Given the description of an element on the screen output the (x, y) to click on. 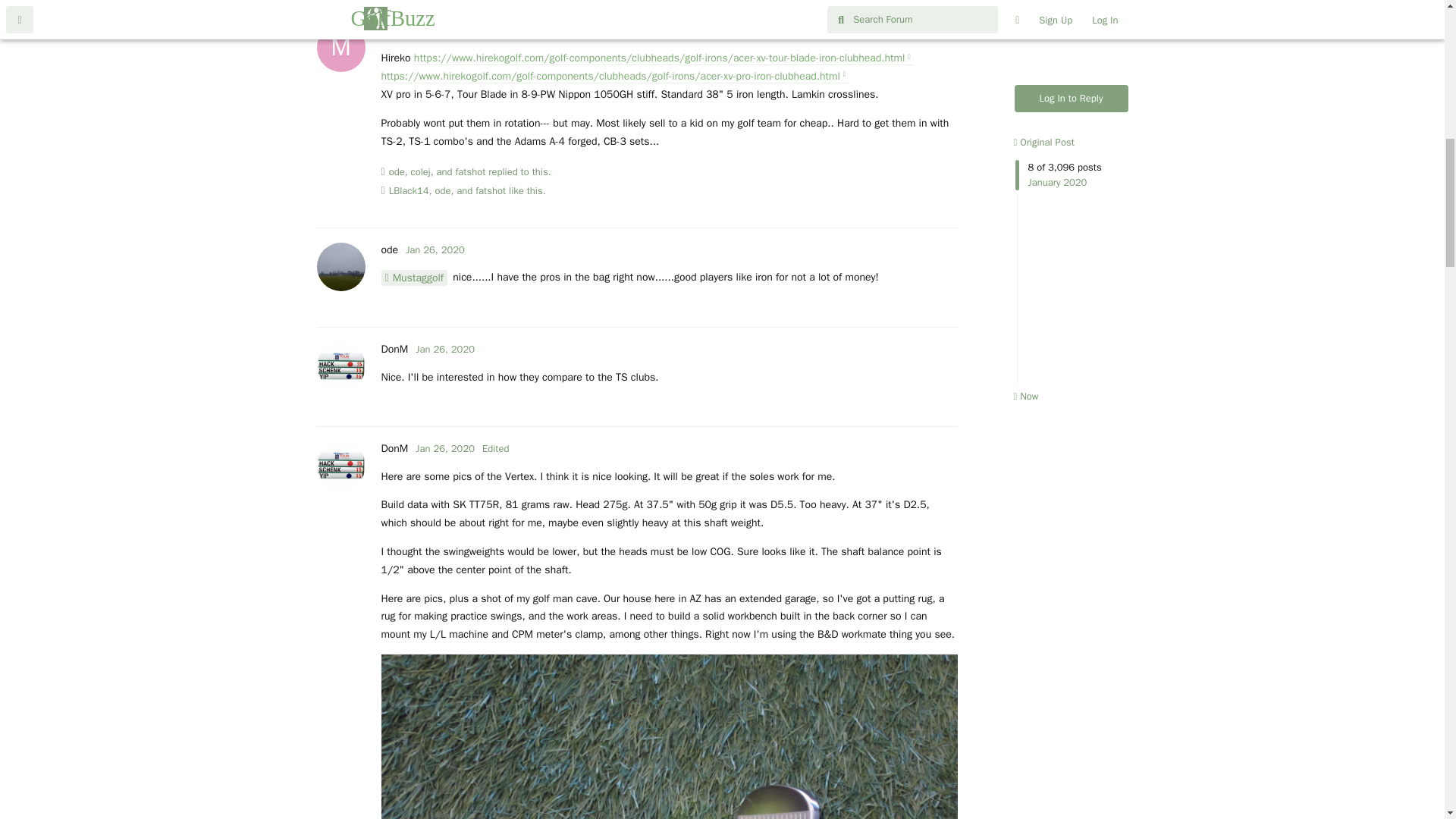
Sunday, January 26, 2020 12:39 AM (444, 349)
Sunday, January 26, 2020 12:06 AM (469, 30)
Sunday, January 26, 2020 2:12 AM (444, 448)
Sunday, January 26, 2020 12:19 AM (435, 249)
